Given the description of an element on the screen output the (x, y) to click on. 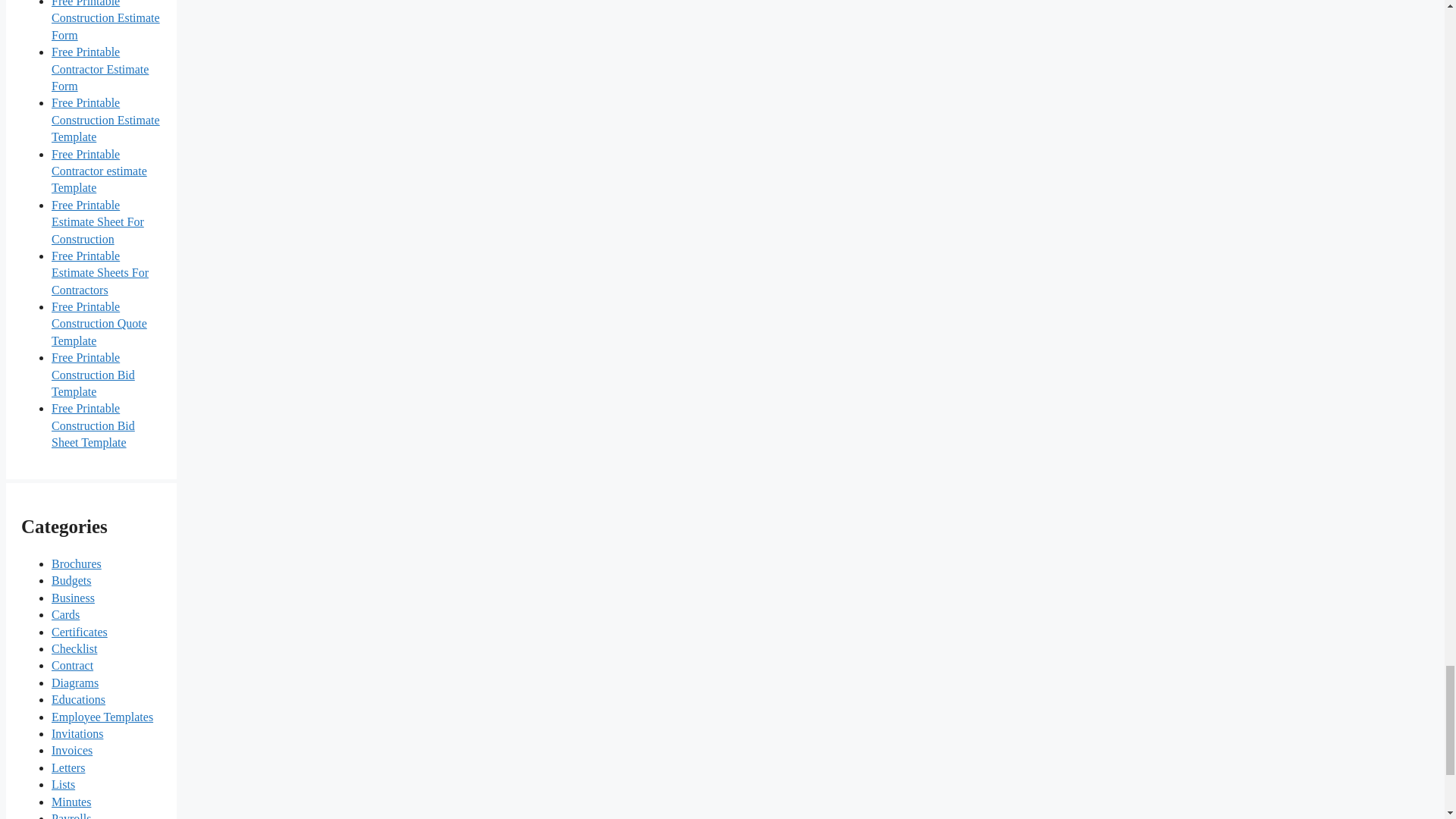
Free Printable Estimate Sheets For Contractors (99, 272)
Free Printable Estimate Sheet For Construction (97, 222)
Free Printable Construction Quote Template (98, 323)
Free Printable Construction Bid Sheet Template (92, 425)
Free Printable Construction Estimate Template (105, 119)
Free Printable Contractor Estimate Form (99, 68)
Free Printable Contractor estimate Template (98, 171)
Free Printable Construction Bid Template (92, 374)
Free Printable Construction Estimate Form (105, 20)
Brochures (75, 563)
